Given the description of an element on the screen output the (x, y) to click on. 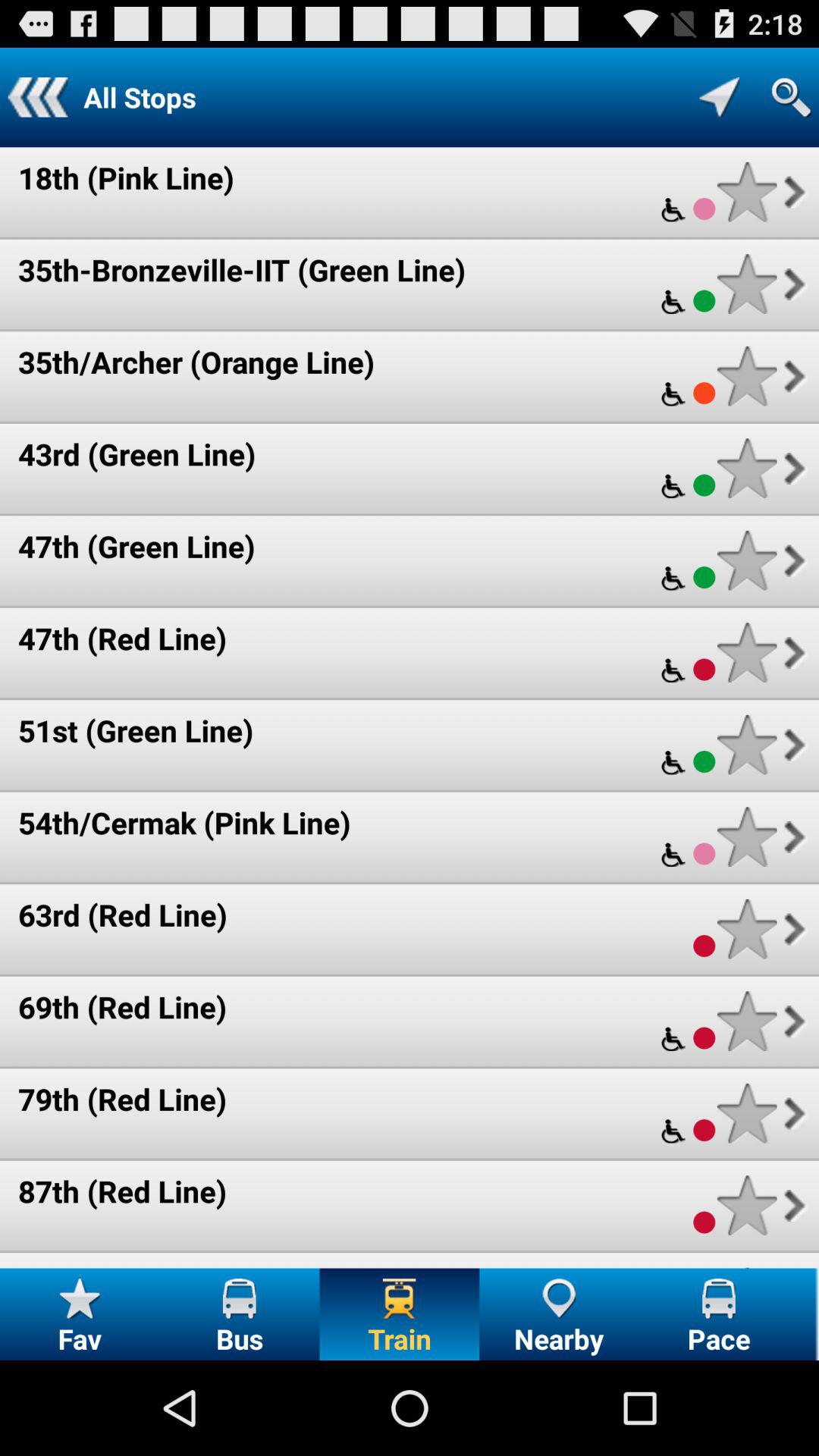
add to favorite (746, 468)
